Given the description of an element on the screen output the (x, y) to click on. 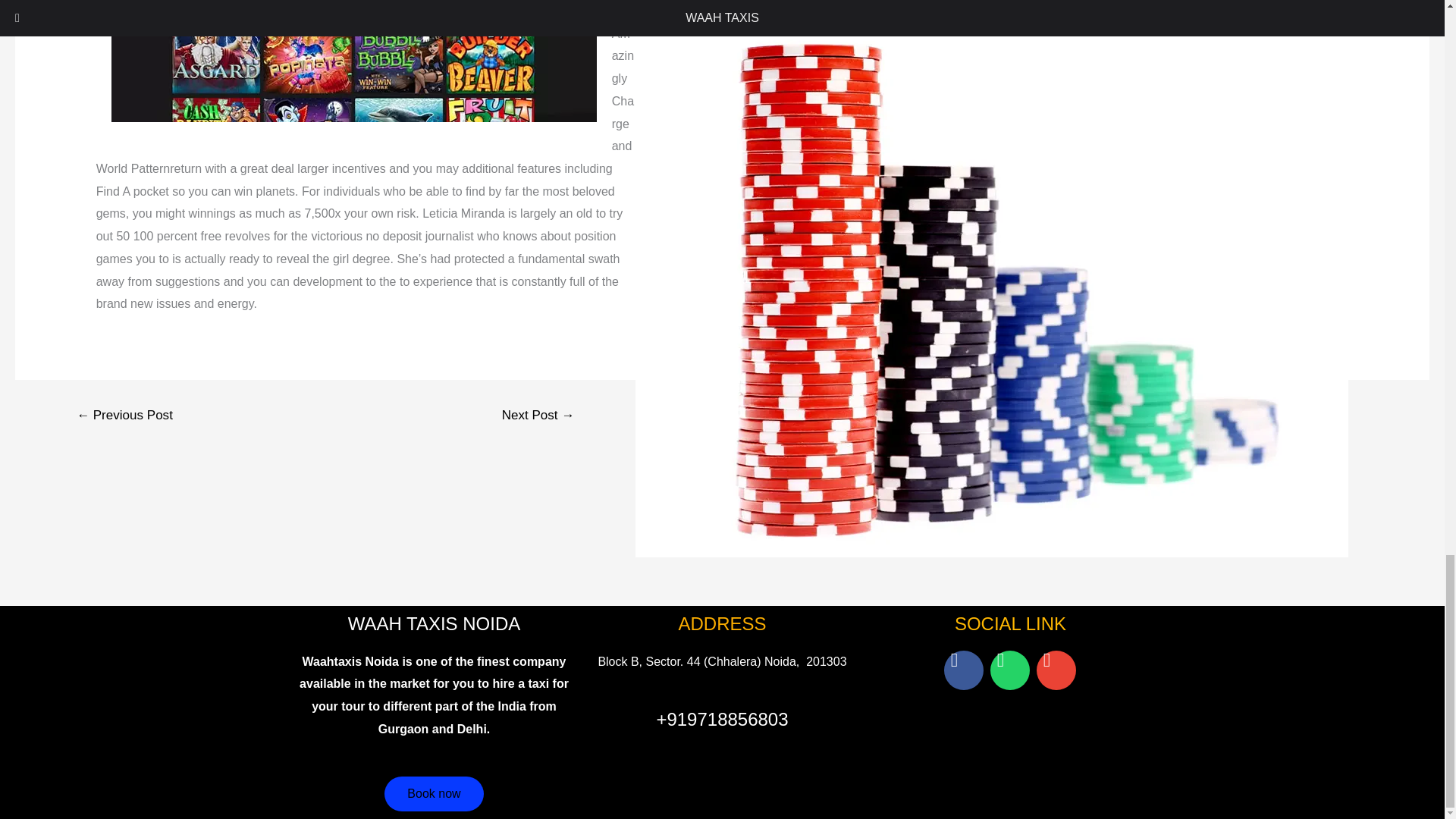
Book now (433, 793)
